Given the description of an element on the screen output the (x, y) to click on. 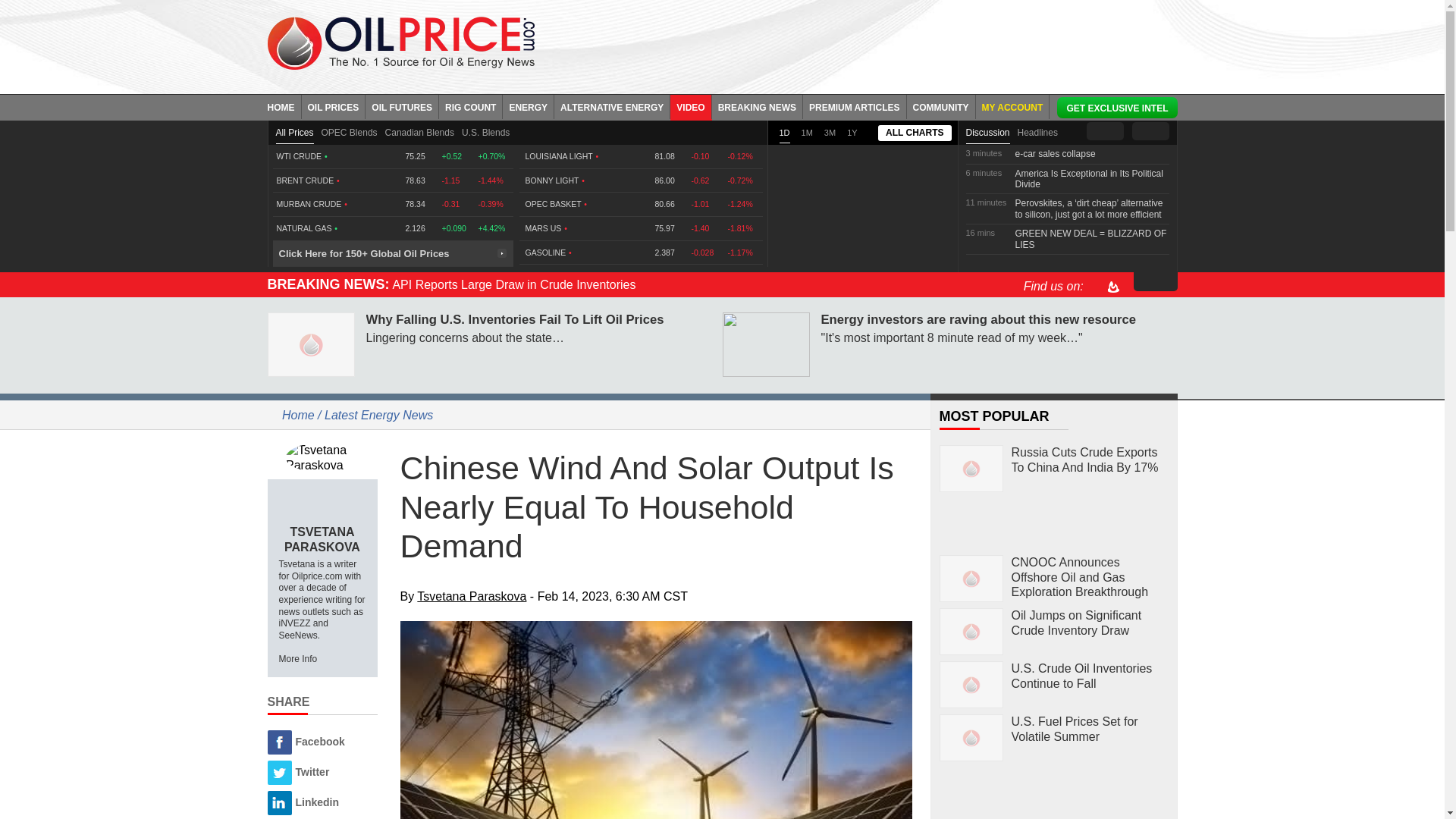
Tsvetana Paraskova (321, 457)
Oil prices - Oilprice.com (400, 42)
OIL PRICES (333, 106)
BREAKING NEWS (757, 106)
VIDEO (690, 106)
MY ACCOUNT (1012, 106)
ALTERNATIVE ENERGY (611, 106)
COMMUNITY (941, 106)
PREMIUM ARTICLES (855, 106)
RIG COUNT (470, 106)
HOME (283, 106)
ENERGY (528, 106)
OIL FUTURES (402, 106)
